Given the description of an element on the screen output the (x, y) to click on. 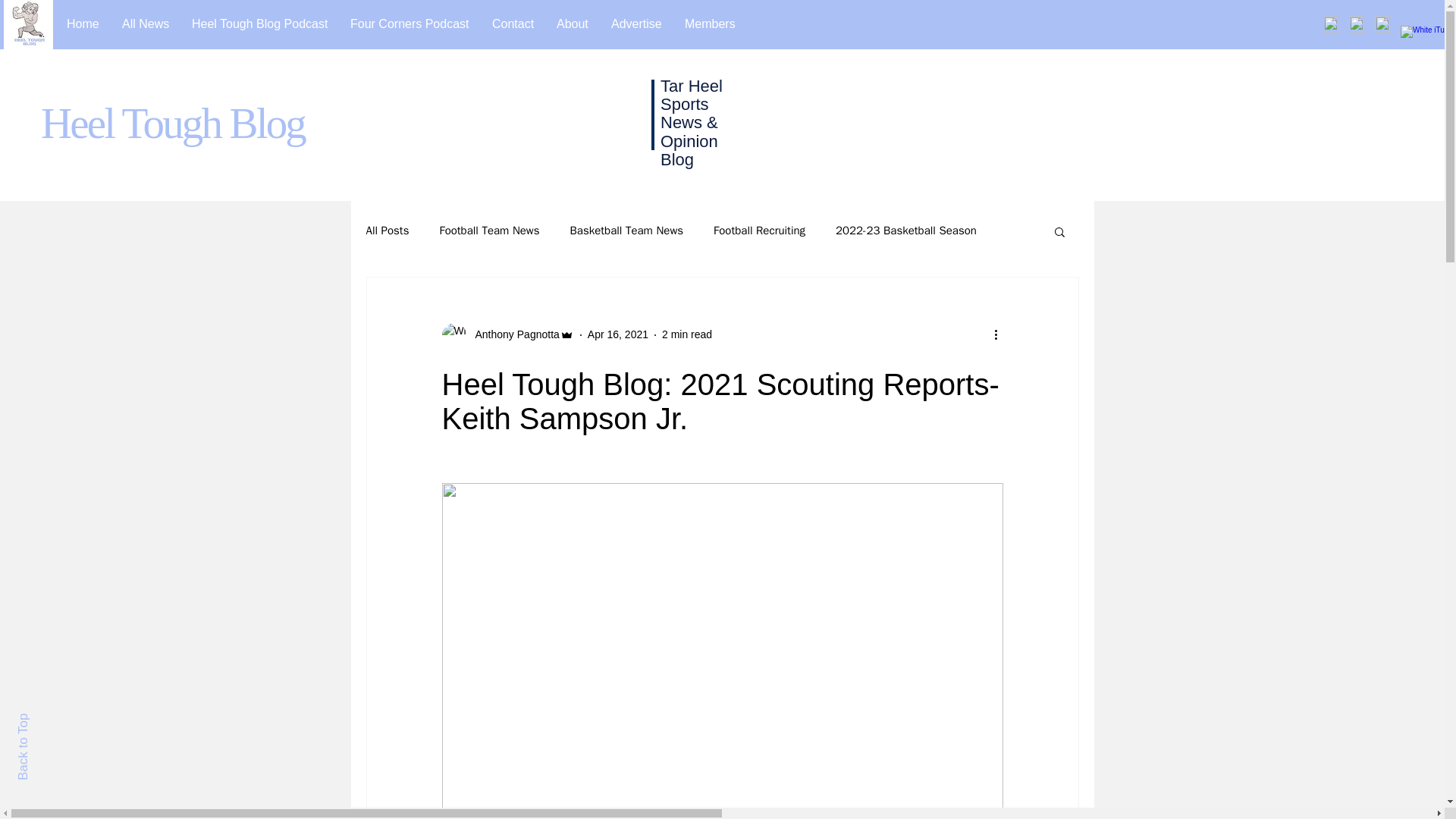
Football Recruiting (759, 230)
Home (82, 23)
Members (709, 23)
Heel Tough Blog (172, 123)
All News (145, 23)
About (571, 23)
2 min read (686, 334)
Contact (512, 23)
All Posts (387, 230)
Apr 16, 2021 (617, 334)
Four Corners Podcast (409, 23)
Football Team News (488, 230)
Heel Tough Blog Podcast (259, 23)
Basketball Team News (627, 230)
2022-23 Basketball Season (905, 230)
